Given the description of an element on the screen output the (x, y) to click on. 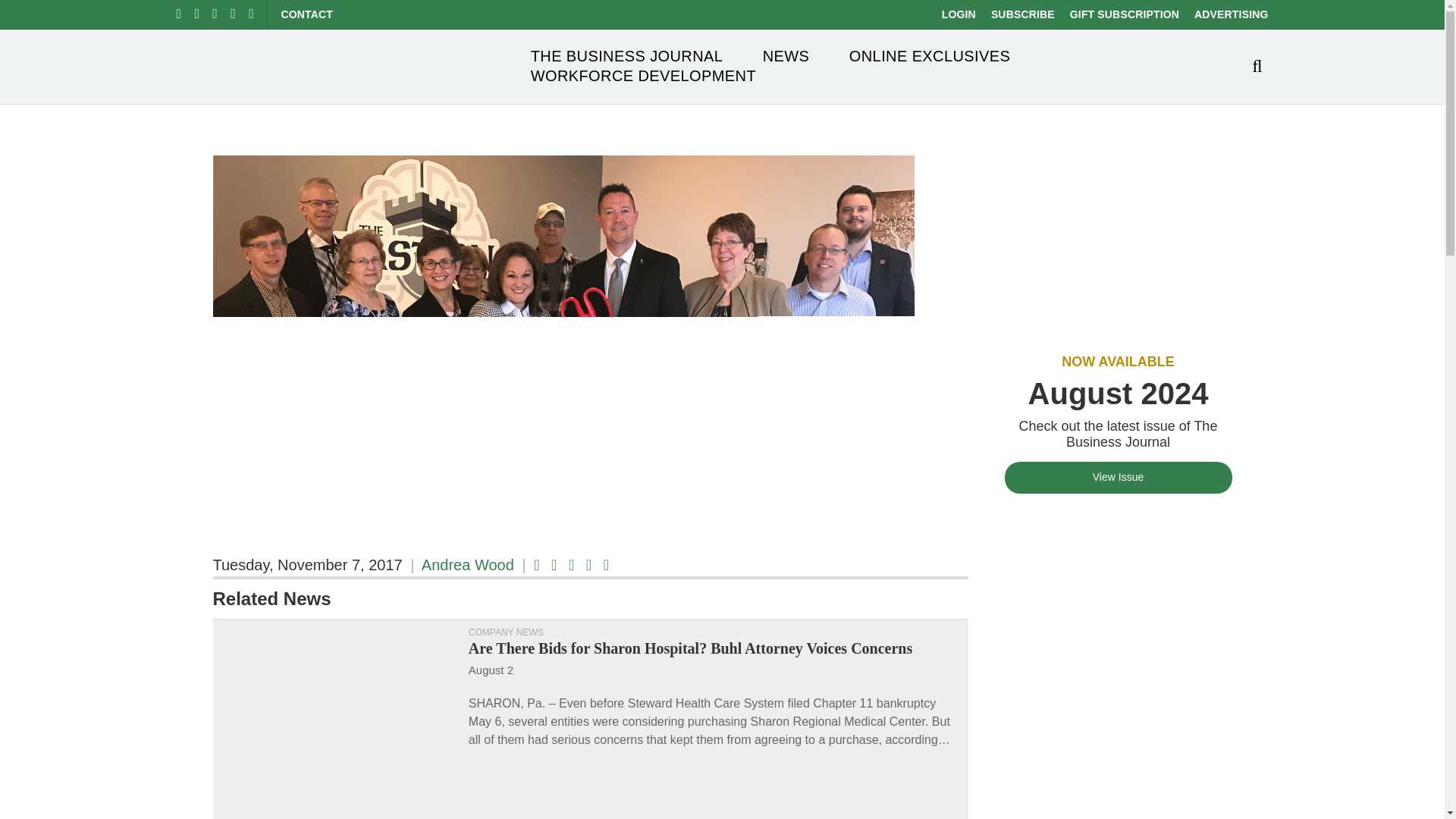
CONTACT (307, 14)
THE BUSINESS JOURNAL (627, 55)
NEWS (785, 55)
LOGIN (958, 14)
ADVERTISING (1230, 14)
GIFT SUBSCRIPTION (1124, 14)
SUBSCRIBE (1022, 14)
